Given the description of an element on the screen output the (x, y) to click on. 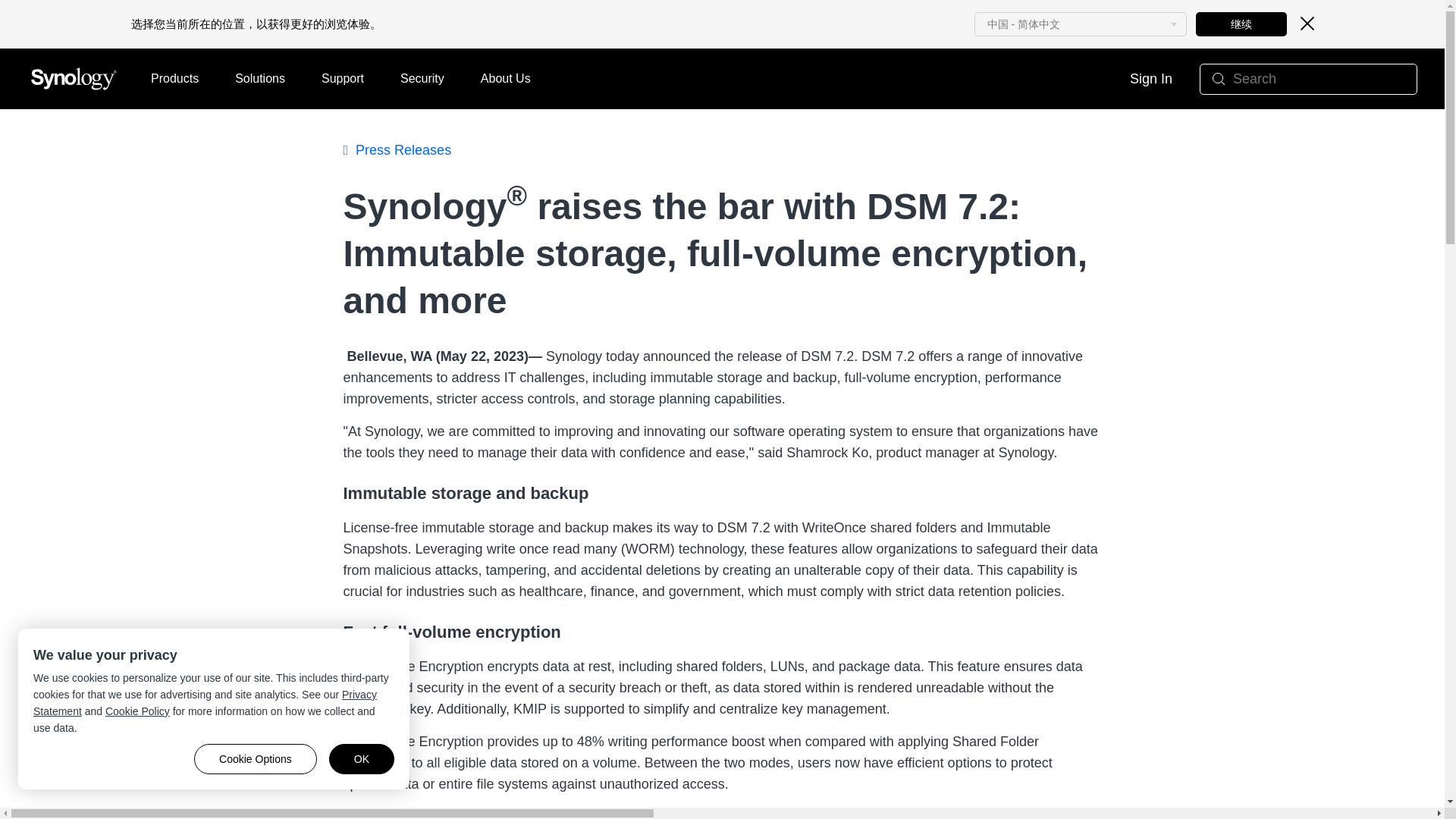
Products (174, 78)
Privacy Statement (205, 702)
Cookie Policy (137, 711)
Continue (1240, 24)
